Given the description of an element on the screen output the (x, y) to click on. 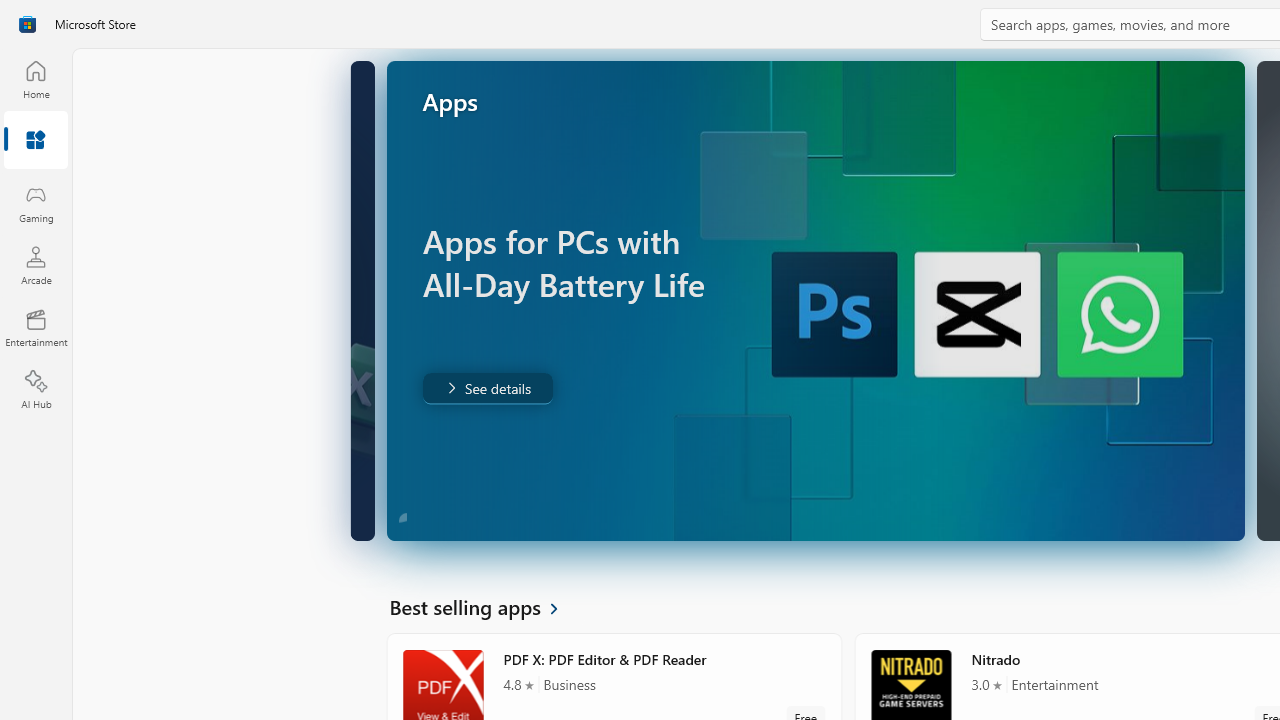
Apps for PCs with All-Day Battery Life. .  . See details (486, 387)
Gaming (35, 203)
AI Hub (35, 390)
Entertainment (35, 327)
Home (35, 79)
AutomationID: Image (815, 300)
Class: Image (27, 24)
Arcade (35, 265)
Apps (35, 141)
See all  Best selling apps (485, 606)
